Given the description of an element on the screen output the (x, y) to click on. 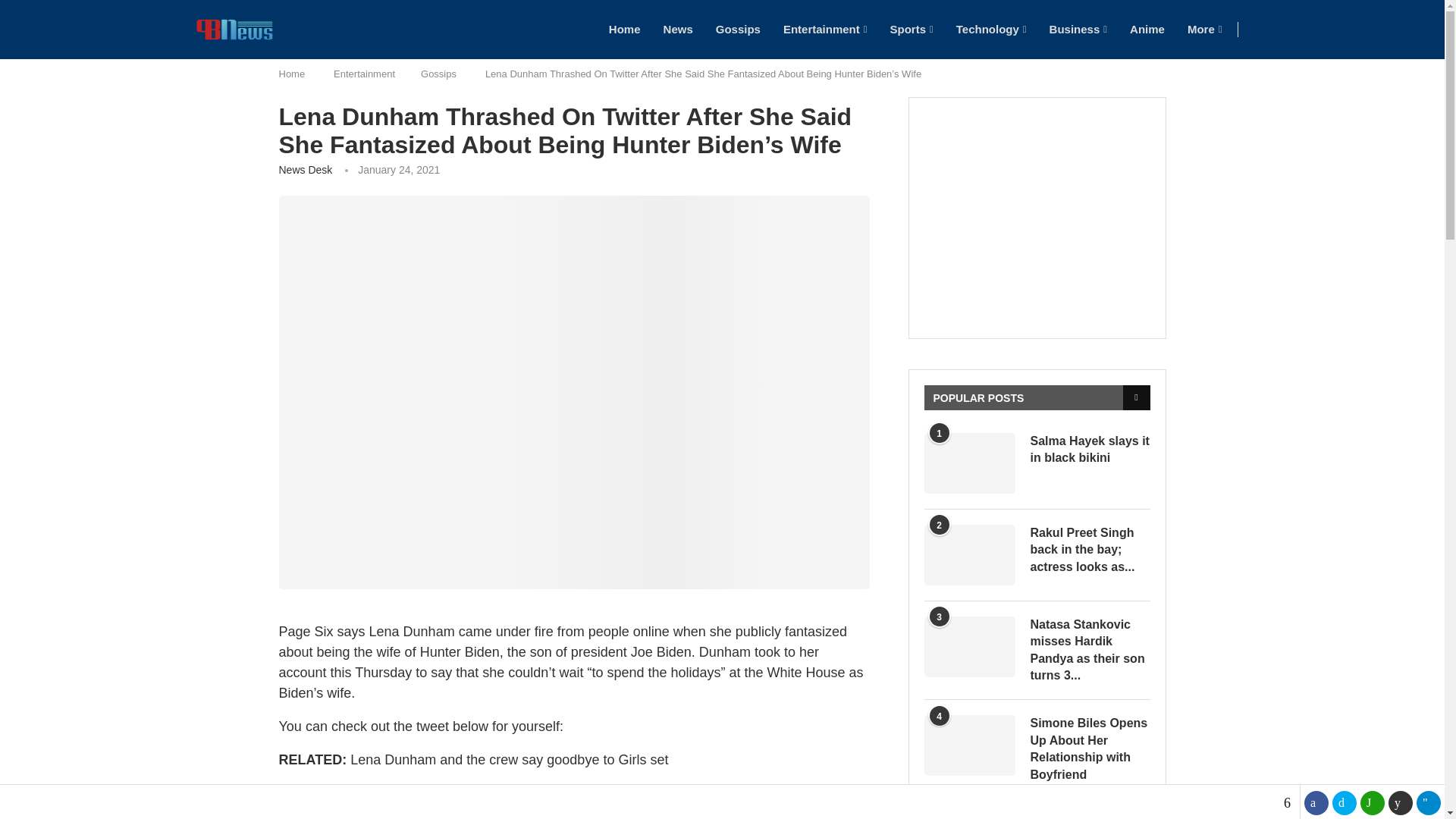
Salma Hayek slays it in black bikini (1089, 449)
Sports (911, 29)
Entertainment (825, 29)
Gossips (738, 29)
Salma Hayek slays it in black bikini (968, 463)
